Given the description of an element on the screen output the (x, y) to click on. 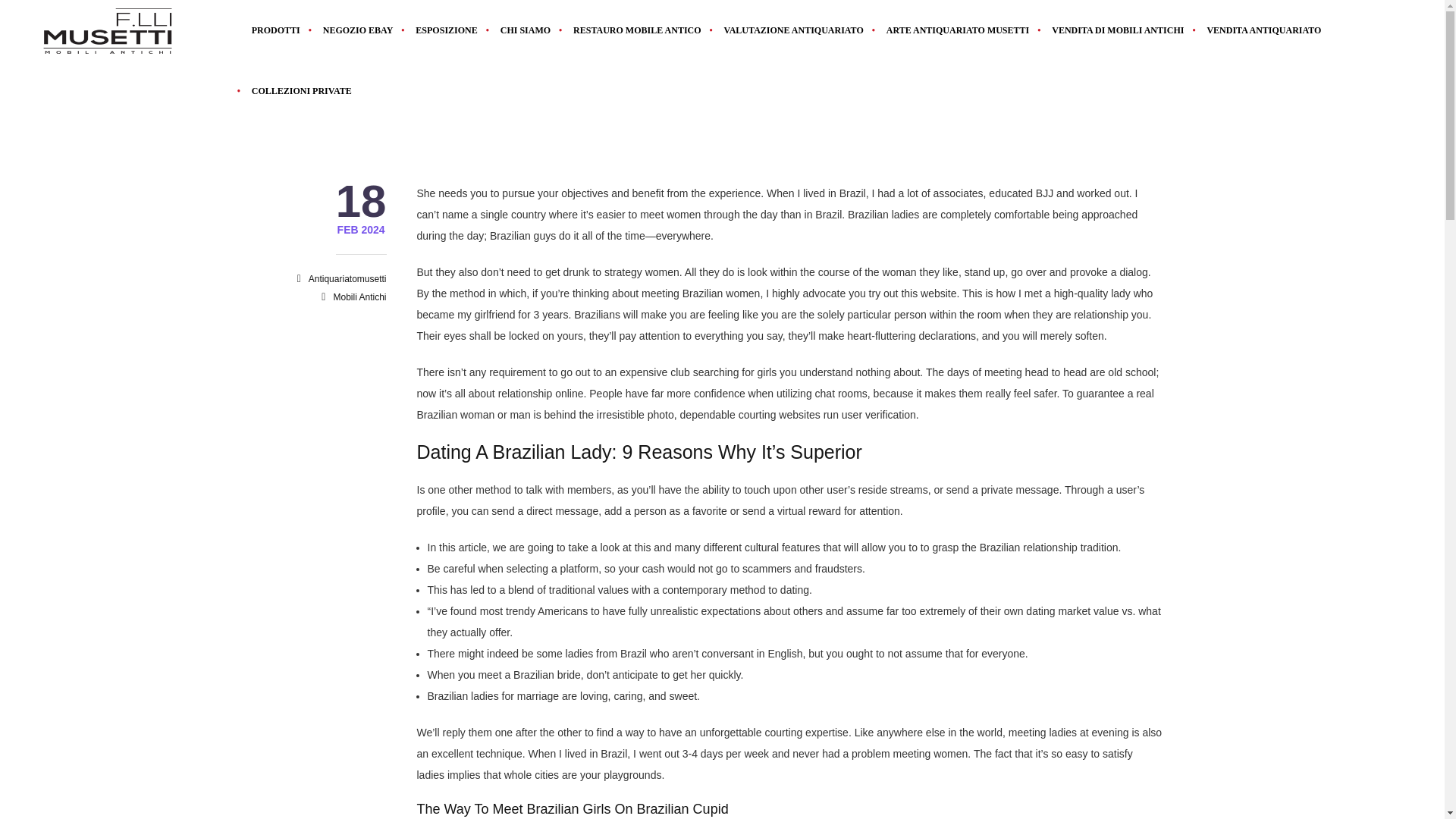
NEGOZIO EBAY (357, 30)
VALUTAZIONE ANTIQUARIATO (794, 30)
Articoli scritti da: antiquariatomusetti (347, 278)
ESPOSIZIONE (445, 30)
ARTE ANTIQUARIATO MUSETTI (958, 30)
PRODOTTI (275, 30)
COLLEZIONI PRIVATE (296, 90)
VENDITA DI MOBILI ANTICHI (1118, 30)
CHI SIAMO (525, 30)
RESTAURO MOBILE ANTICO (636, 30)
